Given the description of an element on the screen output the (x, y) to click on. 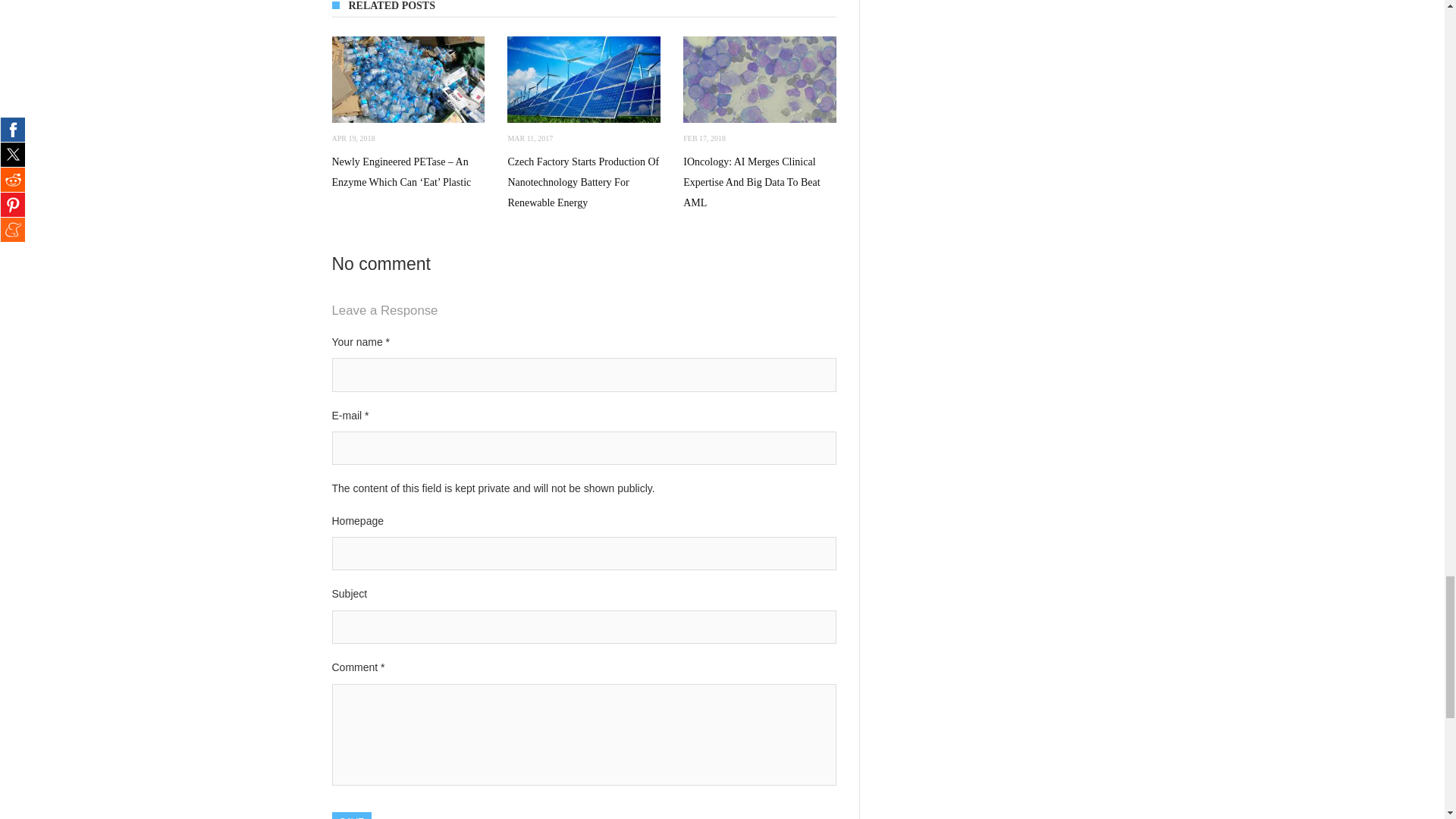
Save (351, 815)
